Given the description of an element on the screen output the (x, y) to click on. 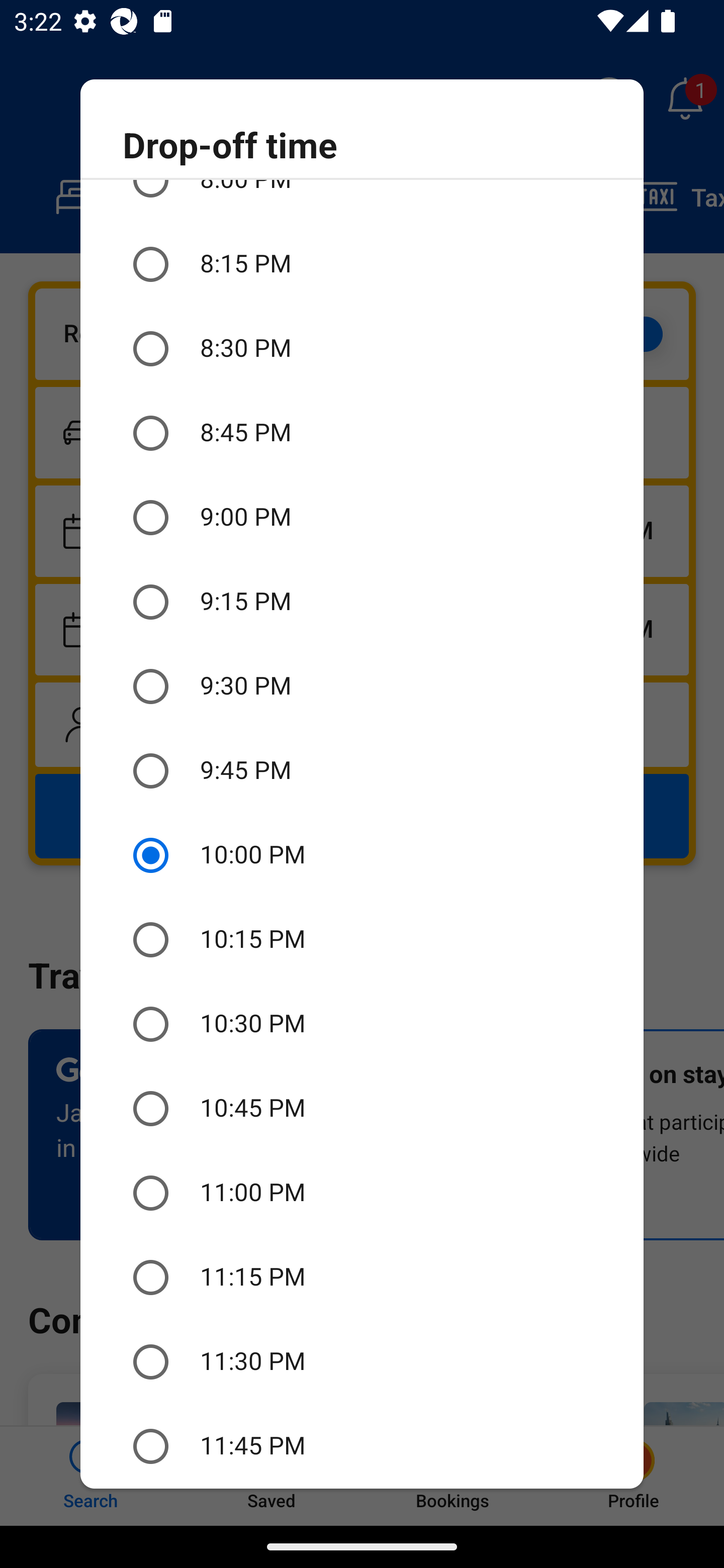
8:15 PM (361, 264)
8:30 PM (361, 348)
8:45 PM (361, 432)
9:00 PM (361, 517)
9:15 PM (361, 601)
9:30 PM (361, 686)
9:45 PM (361, 771)
10:00 PM (361, 854)
10:15 PM (361, 938)
10:30 PM (361, 1023)
10:45 PM (361, 1108)
11:00 PM (361, 1192)
11:15 PM (361, 1277)
11:30 PM (361, 1362)
11:45 PM (361, 1446)
